Given the description of an element on the screen output the (x, y) to click on. 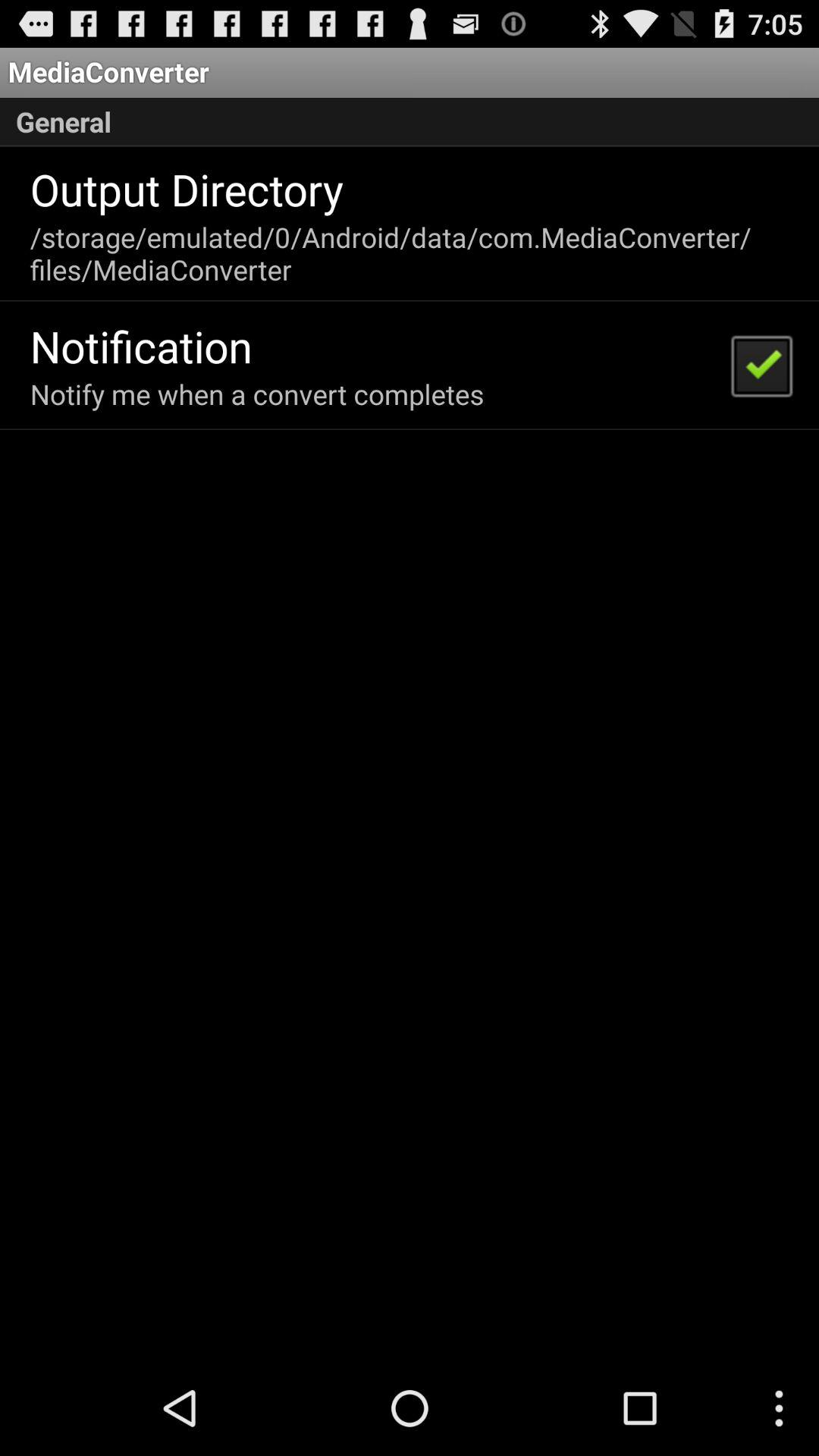
turn on icon below storage emulated 0 app (141, 345)
